Given the description of an element on the screen output the (x, y) to click on. 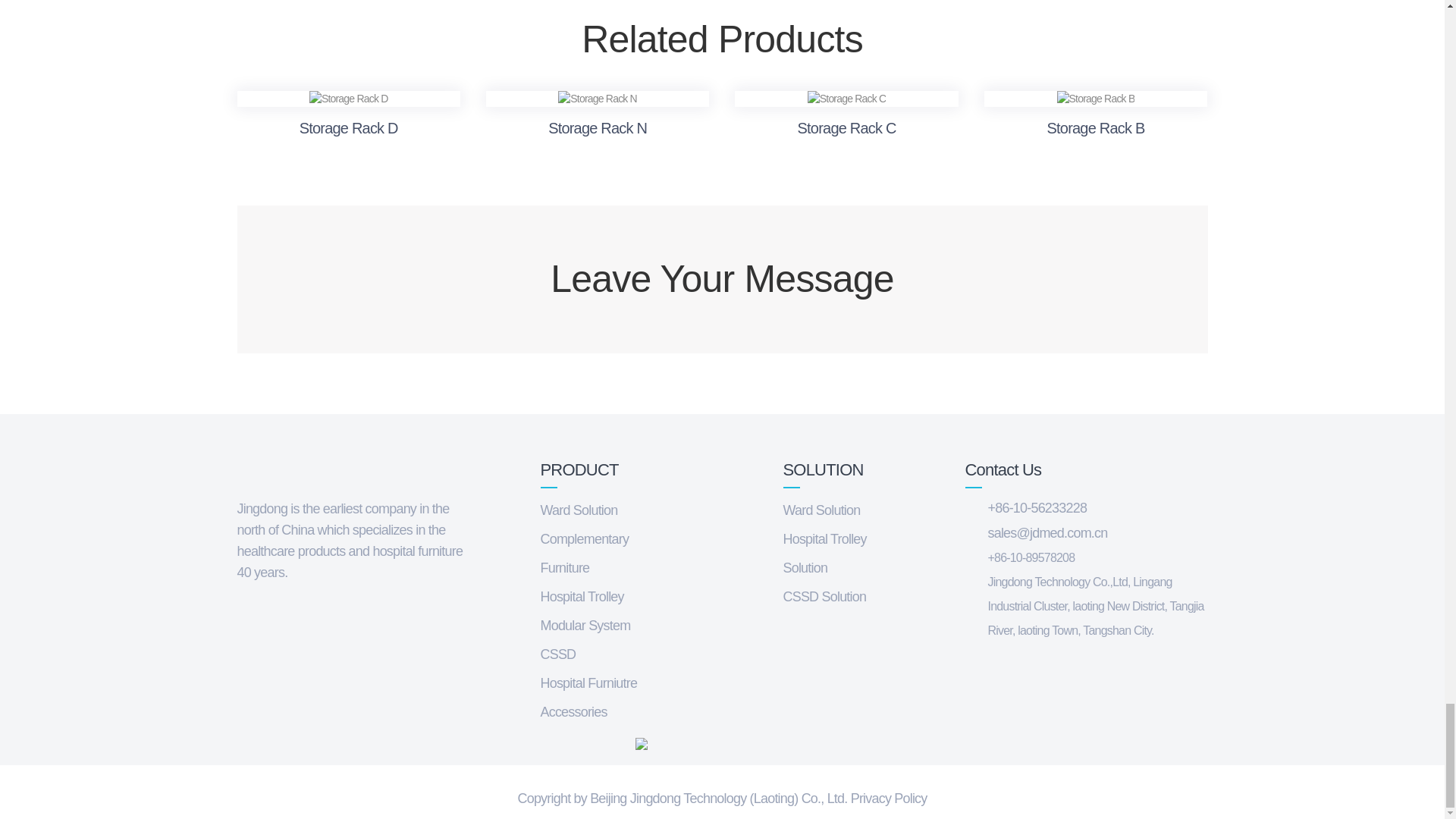
Storage Rack D (348, 98)
Storage Rack N (597, 98)
Storage Rack B (1096, 98)
Storage Rack C (847, 98)
